Given the description of an element on the screen output the (x, y) to click on. 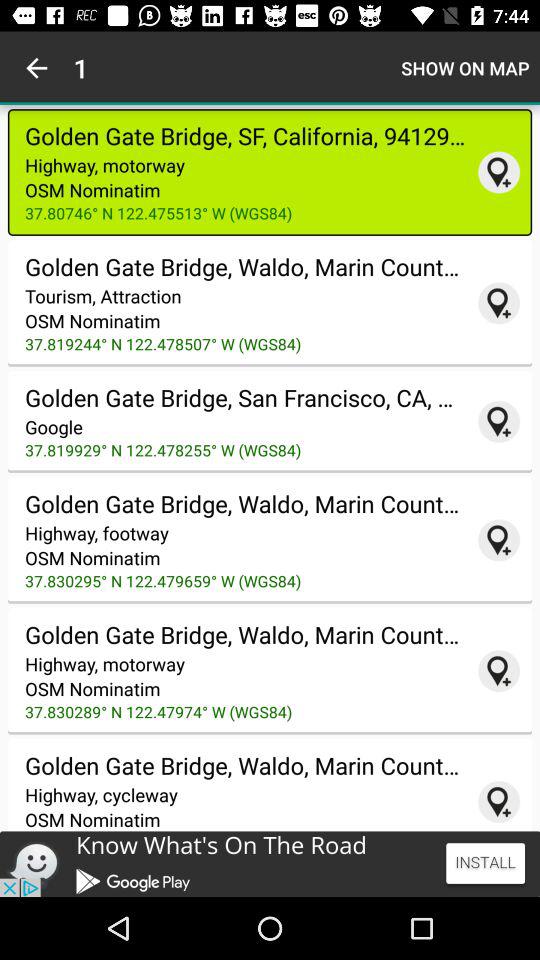
add location (499, 540)
